Given the description of an element on the screen output the (x, y) to click on. 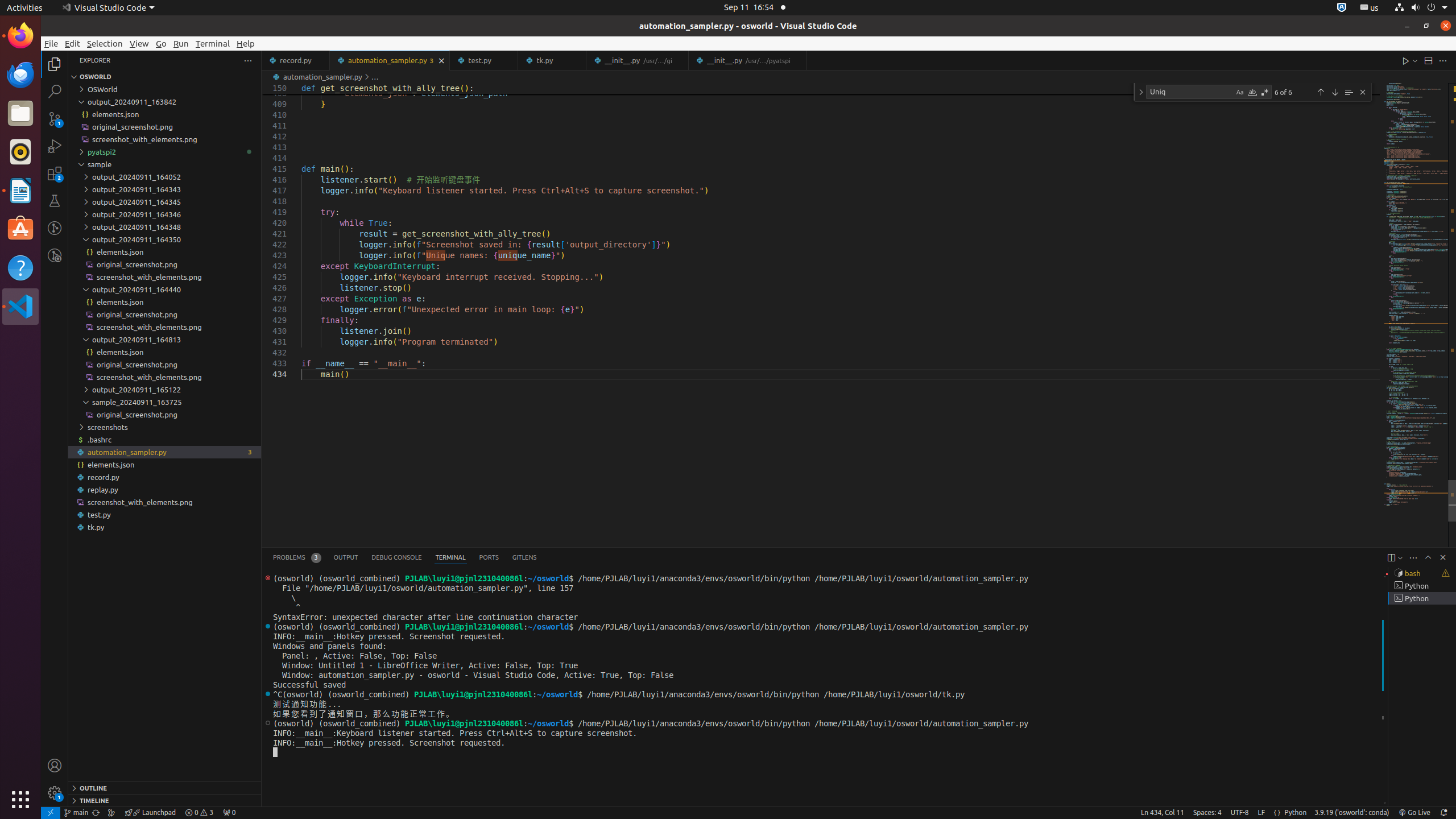
tk.py Element type: tree-item (164, 526)
Match Case (Alt+C) Element type: check-box (1239, 91)
screenshots Element type: tree-item (164, 426)
